Given the description of an element on the screen output the (x, y) to click on. 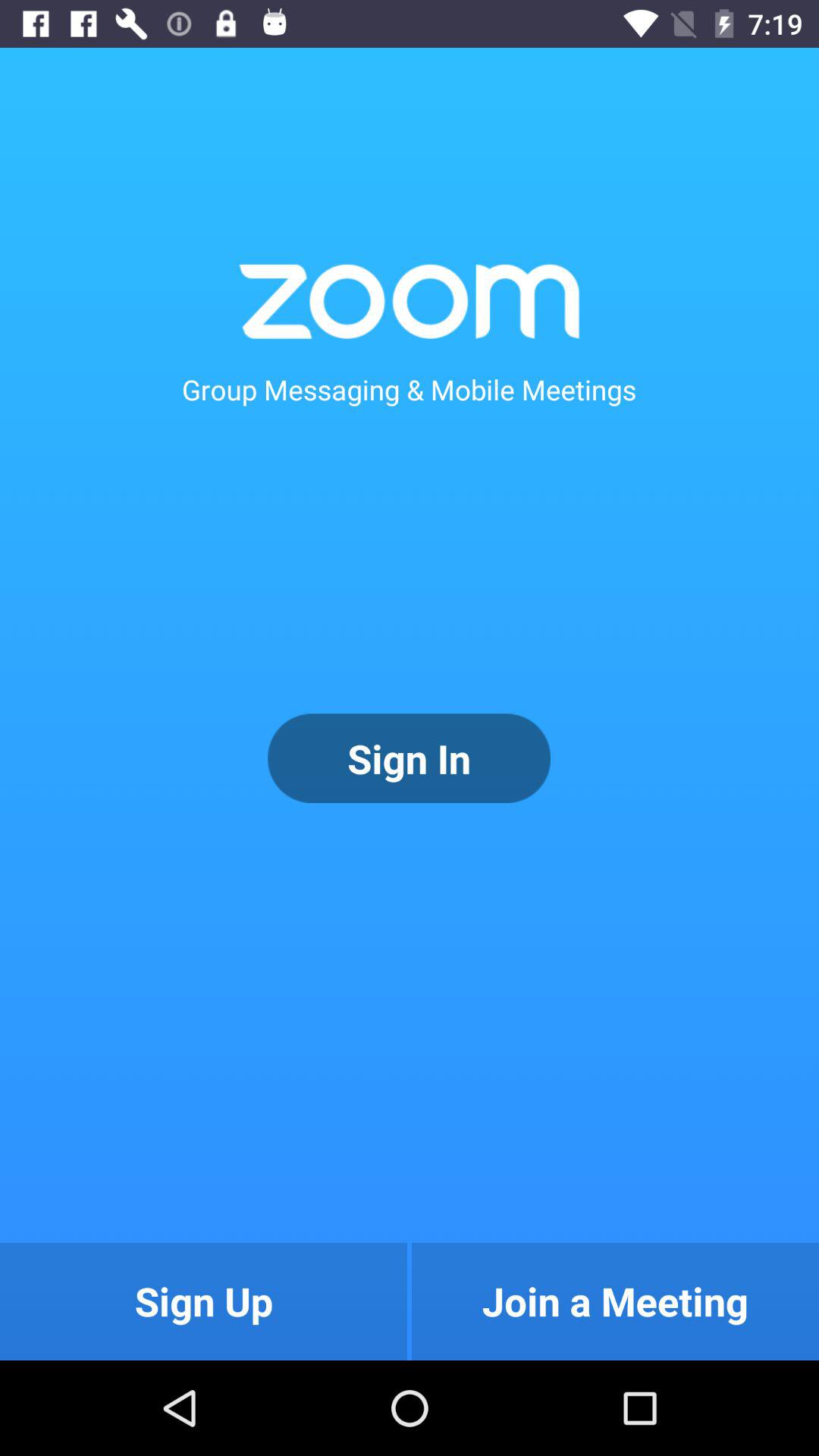
turn off sign in icon (408, 758)
